Given the description of an element on the screen output the (x, y) to click on. 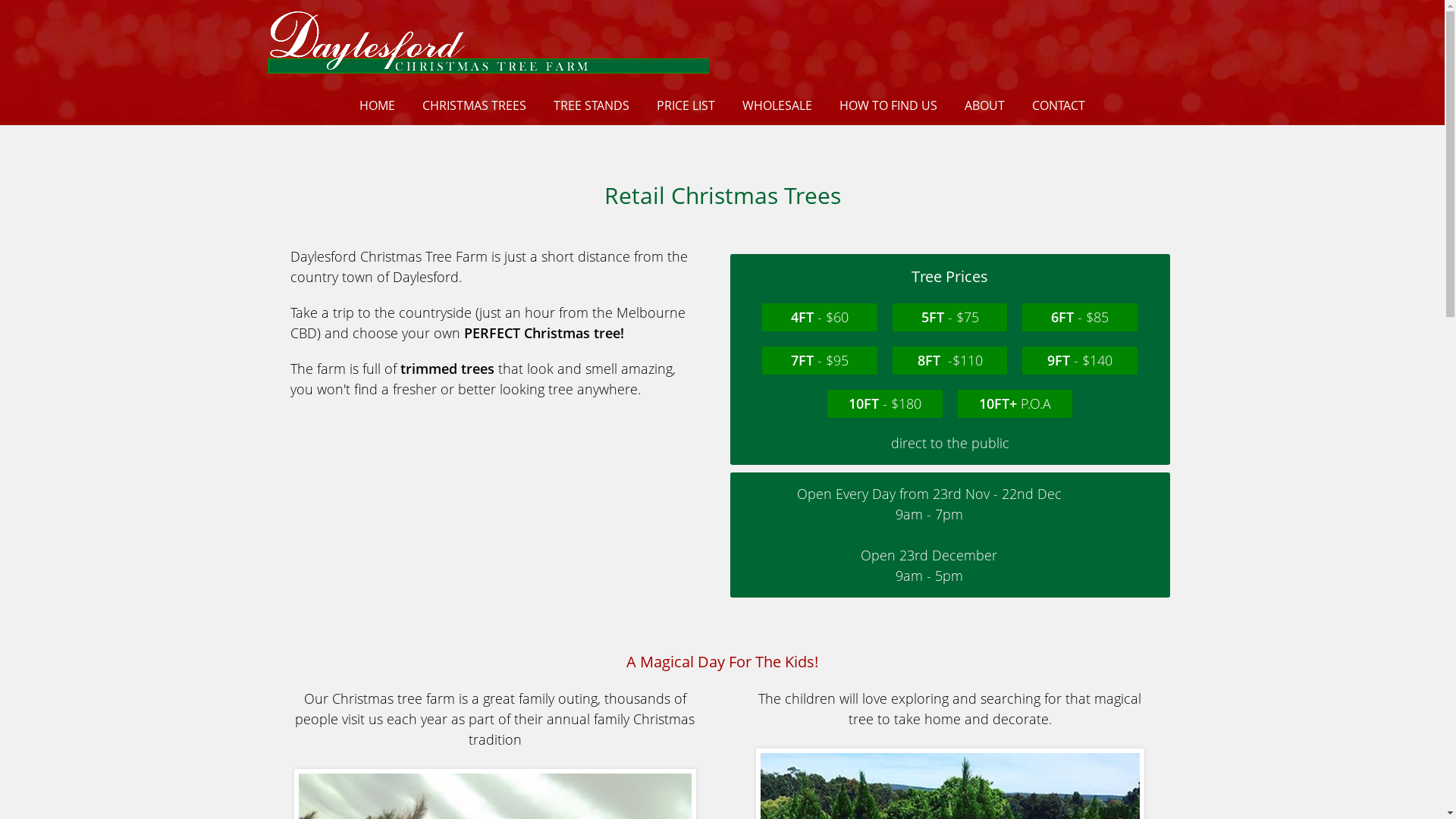
ABOUT Element type: text (984, 105)
CHRISTMAS TREES Element type: text (474, 105)
CONTACT Element type: text (1058, 105)
HOME Element type: text (377, 105)
HOW TO FIND US Element type: text (888, 105)
PRICE LIST Element type: text (685, 105)
TREE STANDS Element type: text (591, 105)
WHOLESALE Element type: text (777, 105)
